Given the description of an element on the screen output the (x, y) to click on. 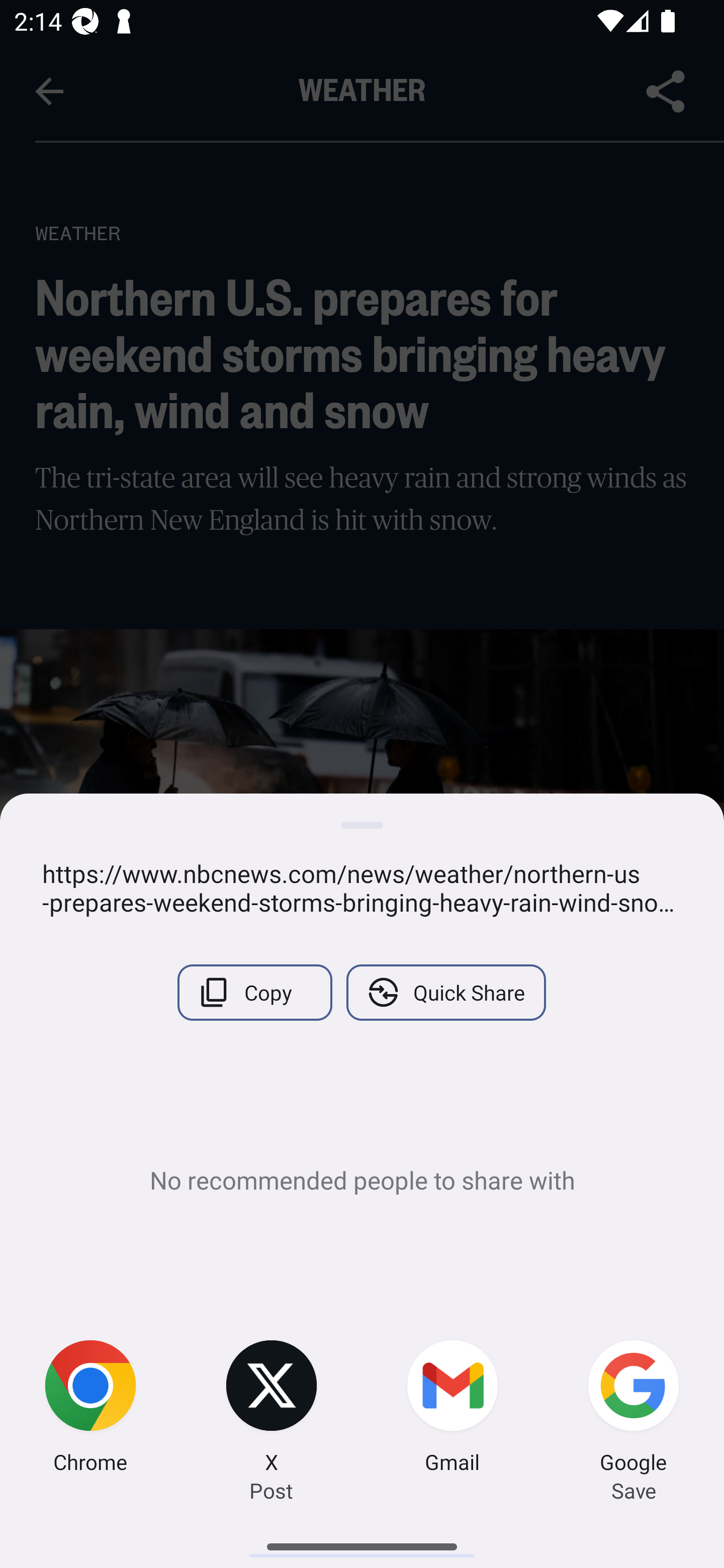
Copy (254, 992)
Quick Share (445, 992)
Chrome (90, 1409)
X Post (271, 1409)
Gmail (452, 1409)
Google Save (633, 1409)
